Given the description of an element on the screen output the (x, y) to click on. 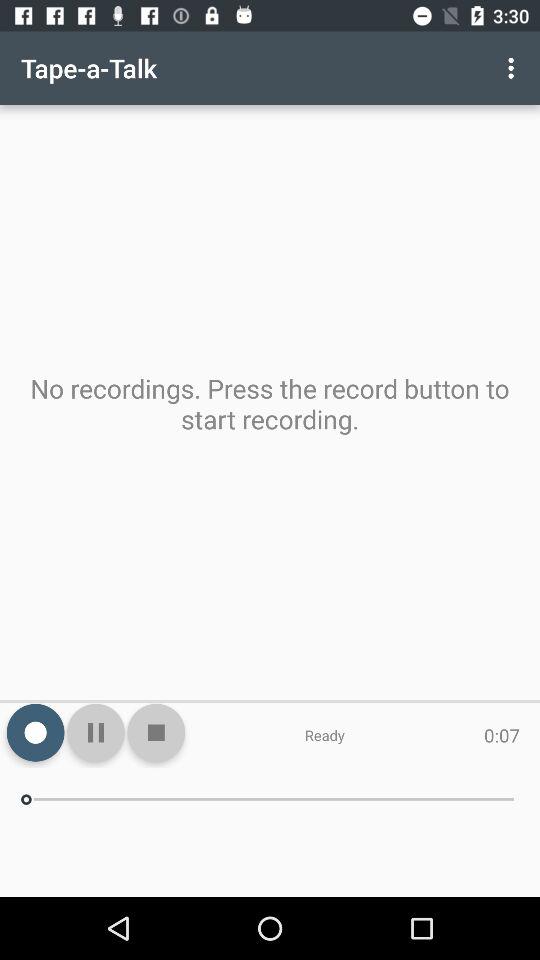
select icon next to ready item (156, 732)
